Given the description of an element on the screen output the (x, y) to click on. 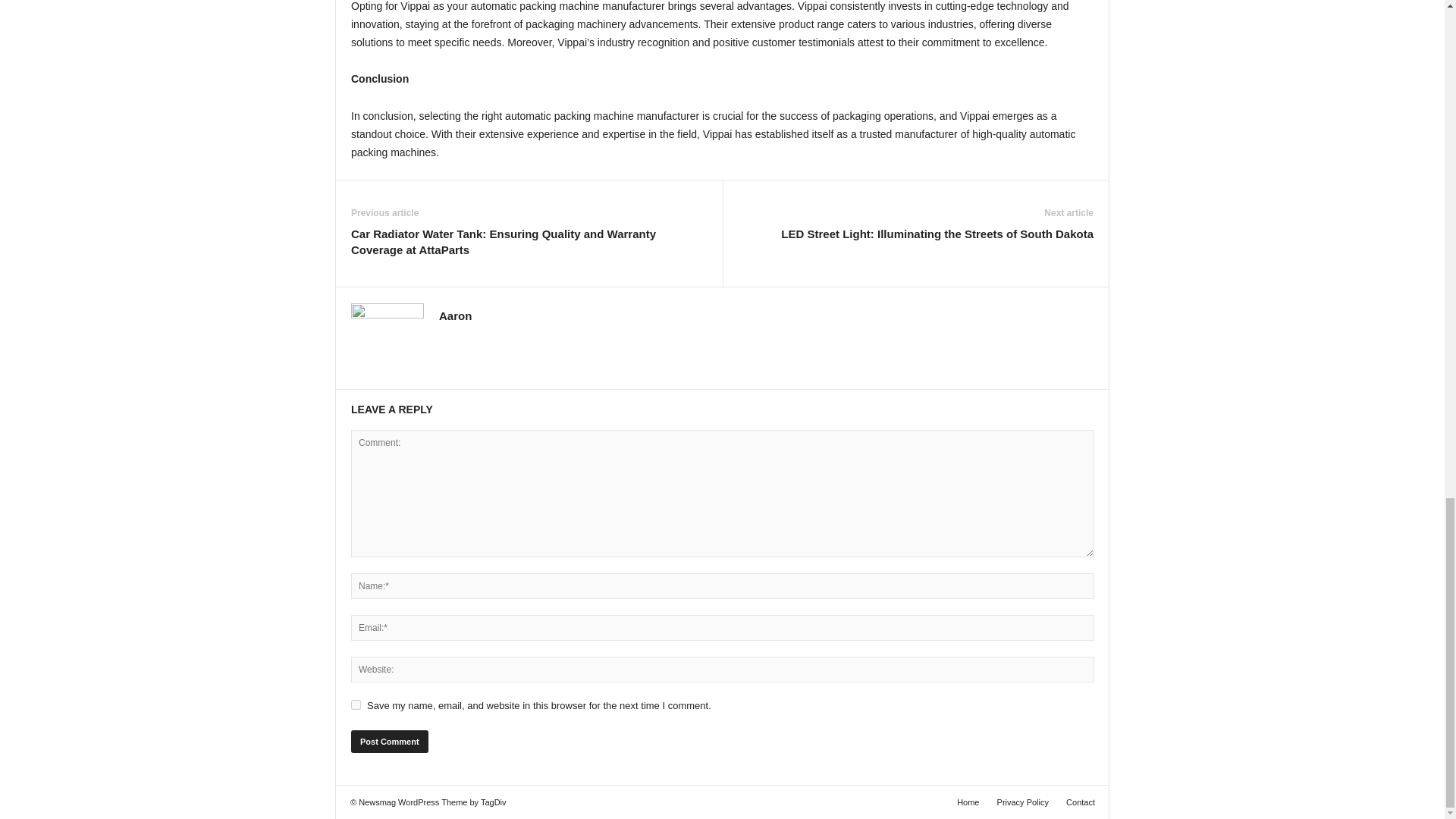
yes (355, 705)
Home (968, 801)
LED Street Light: Illuminating the Streets of South Dakota (936, 233)
Contact (1076, 801)
Privacy Policy (1023, 801)
Post Comment (389, 741)
Aaron (455, 315)
Post Comment (389, 741)
